Given the description of an element on the screen output the (x, y) to click on. 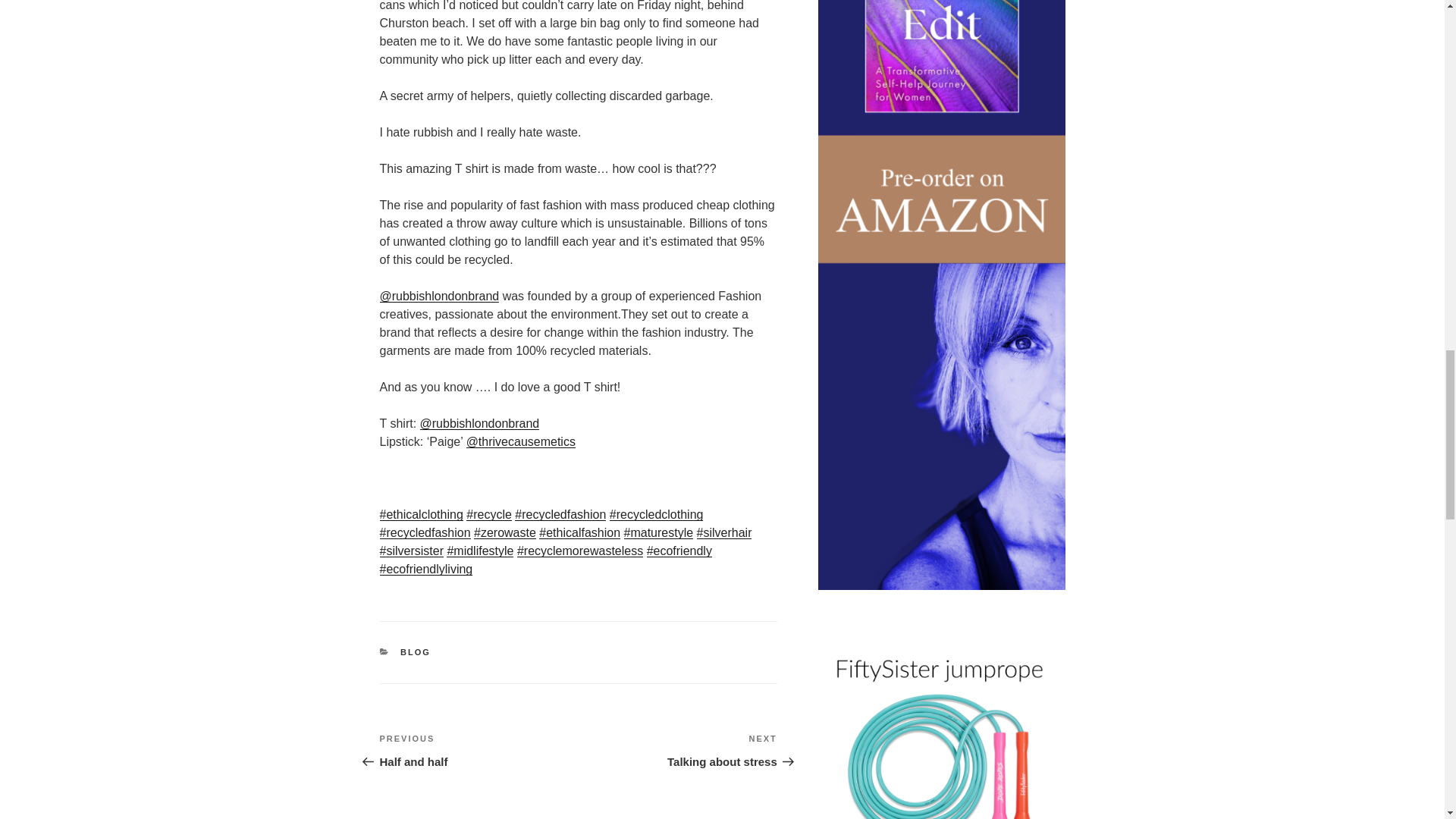
BLOG (478, 750)
